Given the description of an element on the screen output the (x, y) to click on. 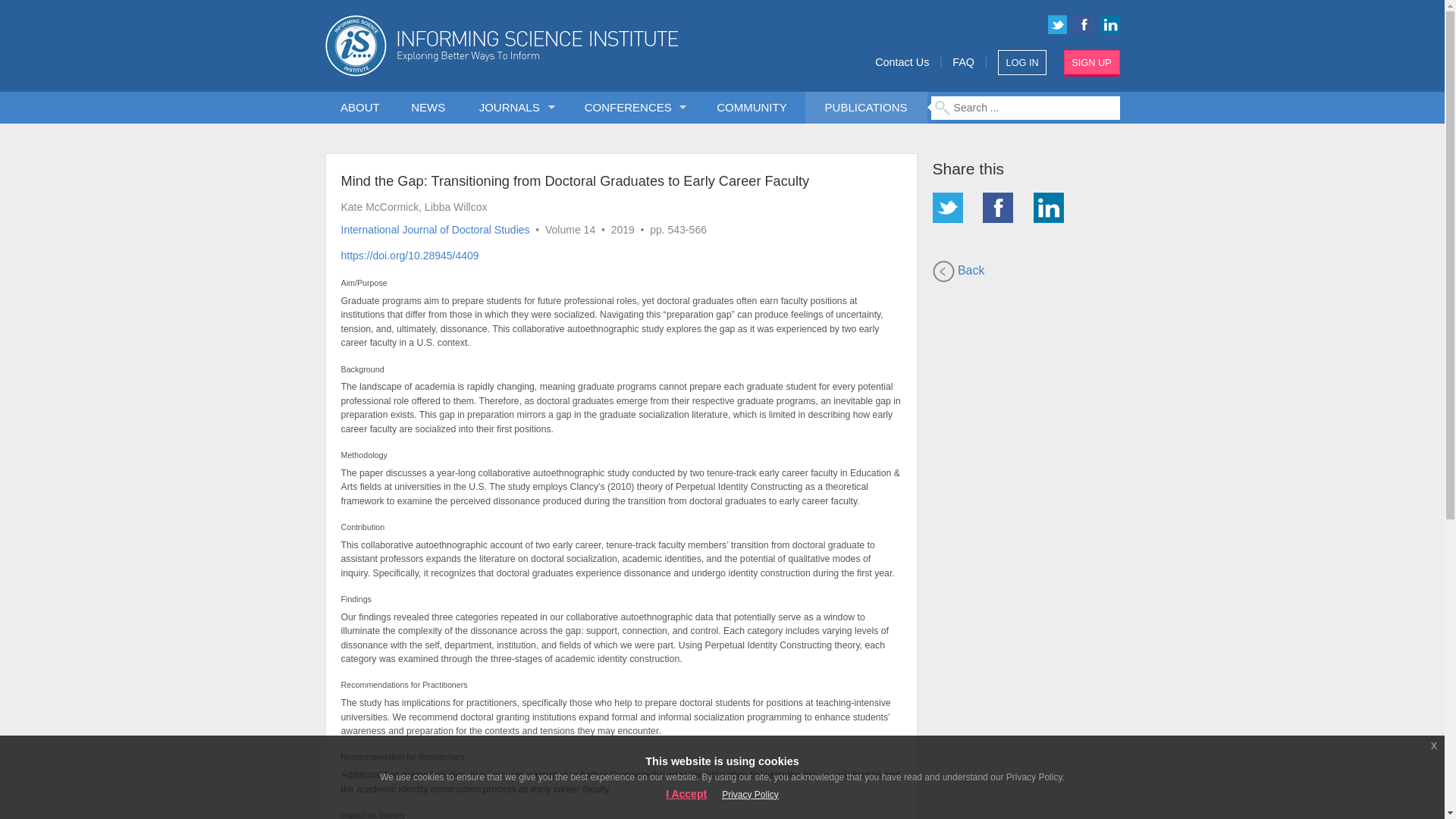
JOURNALS   (512, 107)
CONFERENCES   (631, 107)
SIGN UP (1091, 62)
ABOUT (360, 107)
LOG IN (1021, 62)
NEWS (428, 107)
International Journal of Doctoral Studies (434, 228)
ISI Home (552, 45)
FAQ (963, 61)
Contact Us (901, 61)
COMMUNITY (751, 107)
PUBLICATIONS (865, 107)
